Given the description of an element on the screen output the (x, y) to click on. 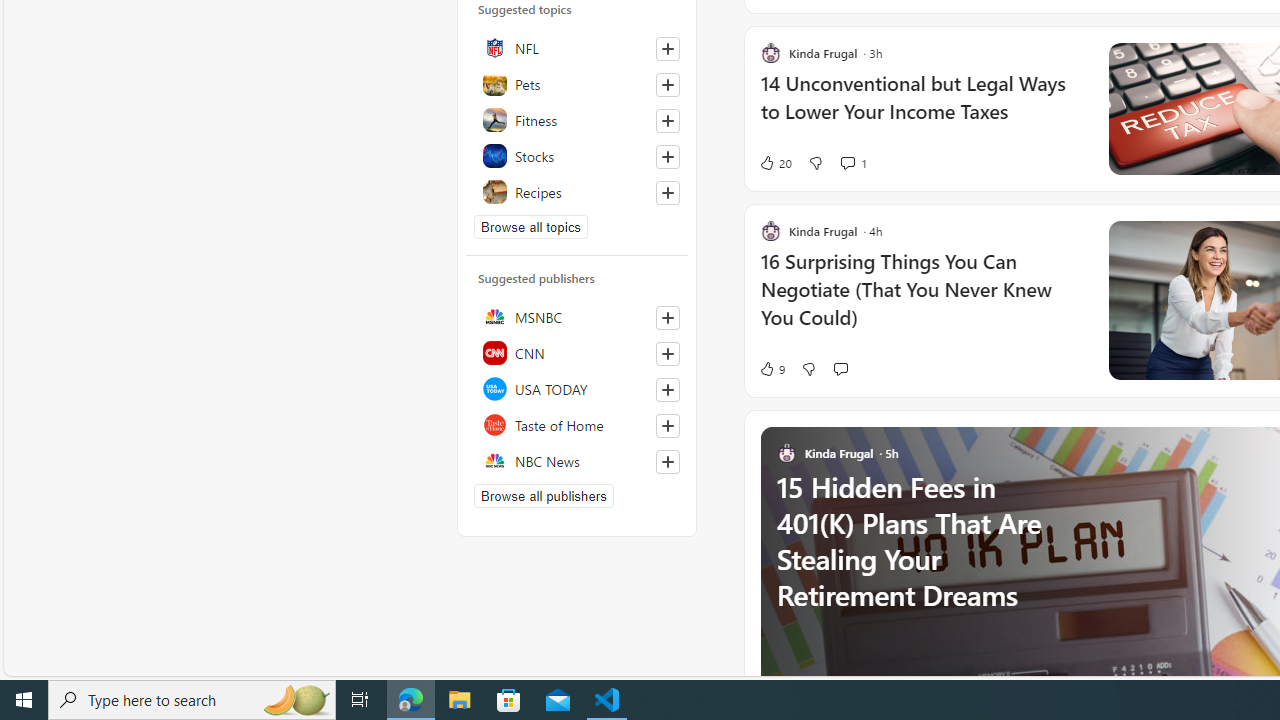
Pets (577, 83)
Recipes (577, 191)
View comments 1 Comment (847, 162)
Follow this source (667, 461)
Taste of Home (577, 425)
NFL (577, 47)
Stocks (577, 155)
MSNBC (577, 317)
Start the conversation (840, 368)
Browse all topics (530, 227)
Browse all publishers (543, 495)
Follow this topic (667, 192)
Dislike (808, 368)
20 Like (775, 162)
